Given the description of an element on the screen output the (x, y) to click on. 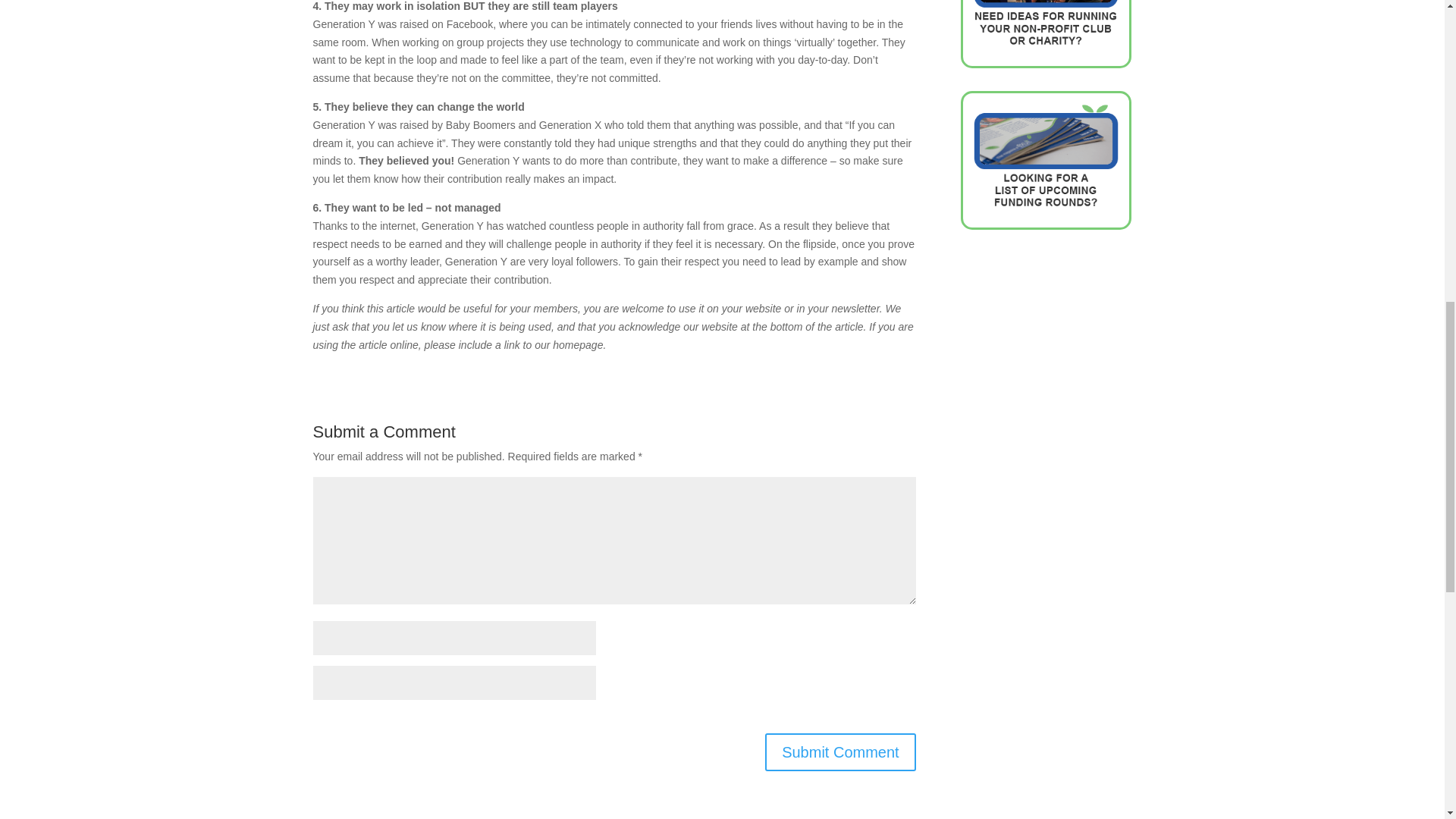
Submit Comment (840, 752)
